Given the description of an element on the screen output the (x, y) to click on. 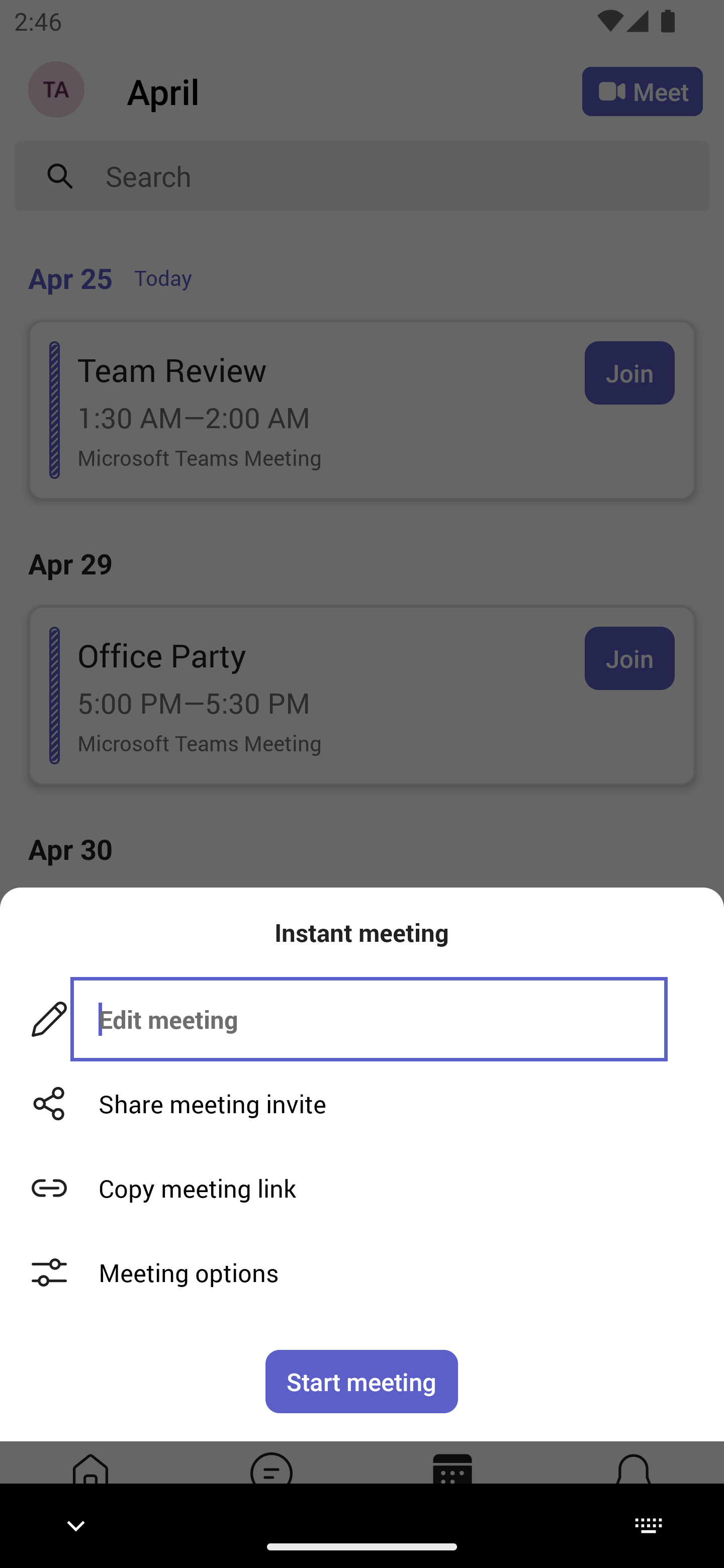
Edit meeting (368, 1018)
Share meeting invite (362, 1103)
Copy meeting link (362, 1188)
Meeting options (362, 1271)
Start meeting (361, 1381)
